Given the description of an element on the screen output the (x, y) to click on. 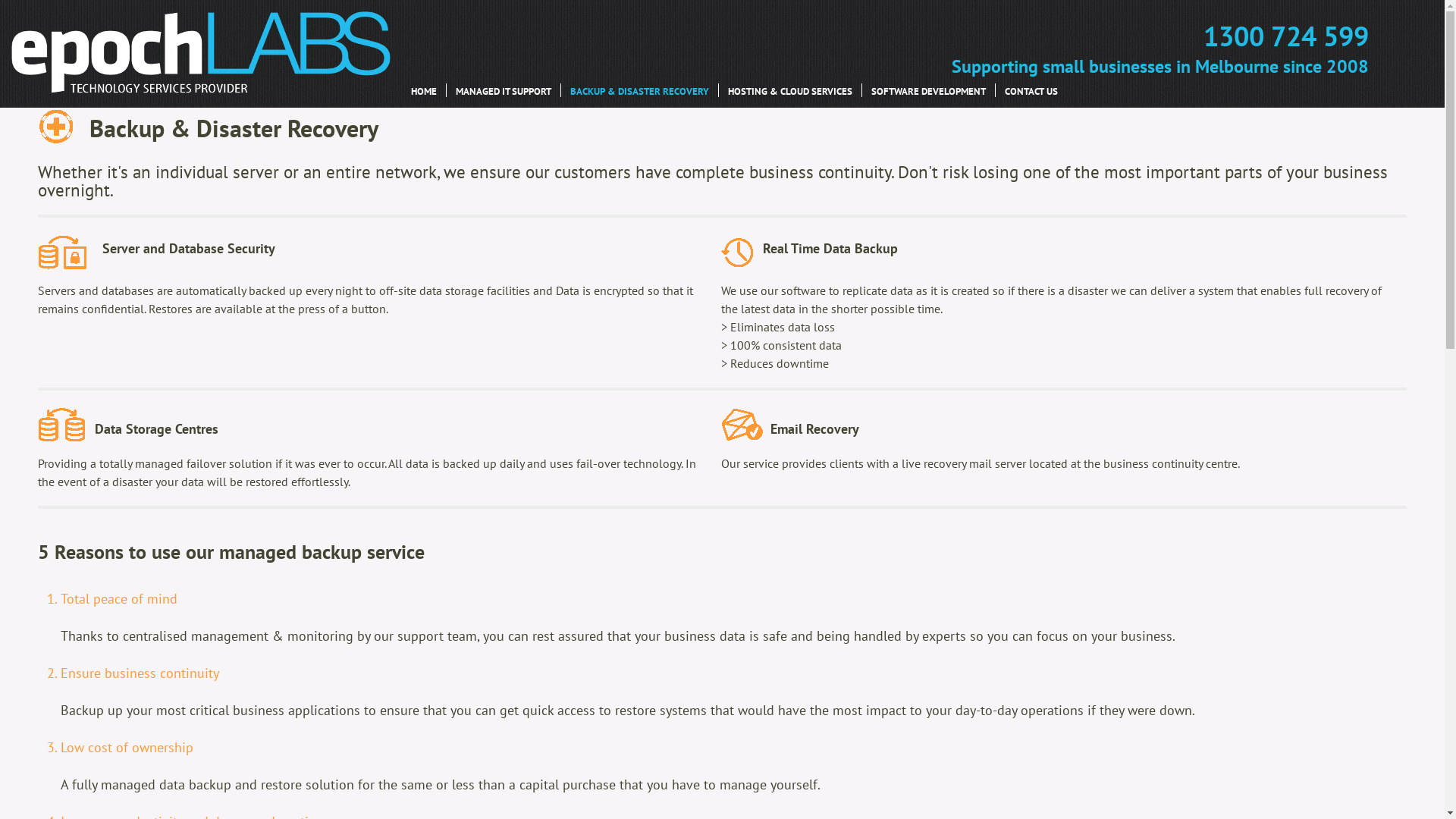
Software Development Element type: text (928, 89)
Skip to main content Element type: text (722, 2)
Managed IT Support Element type: text (503, 89)
Contact Us Element type: text (1030, 89)
Home Element type: text (423, 89)
Backup & Disaster Recovery Element type: text (639, 89)
Hosting & Cloud Services Element type: text (790, 89)
